Given the description of an element on the screen output the (x, y) to click on. 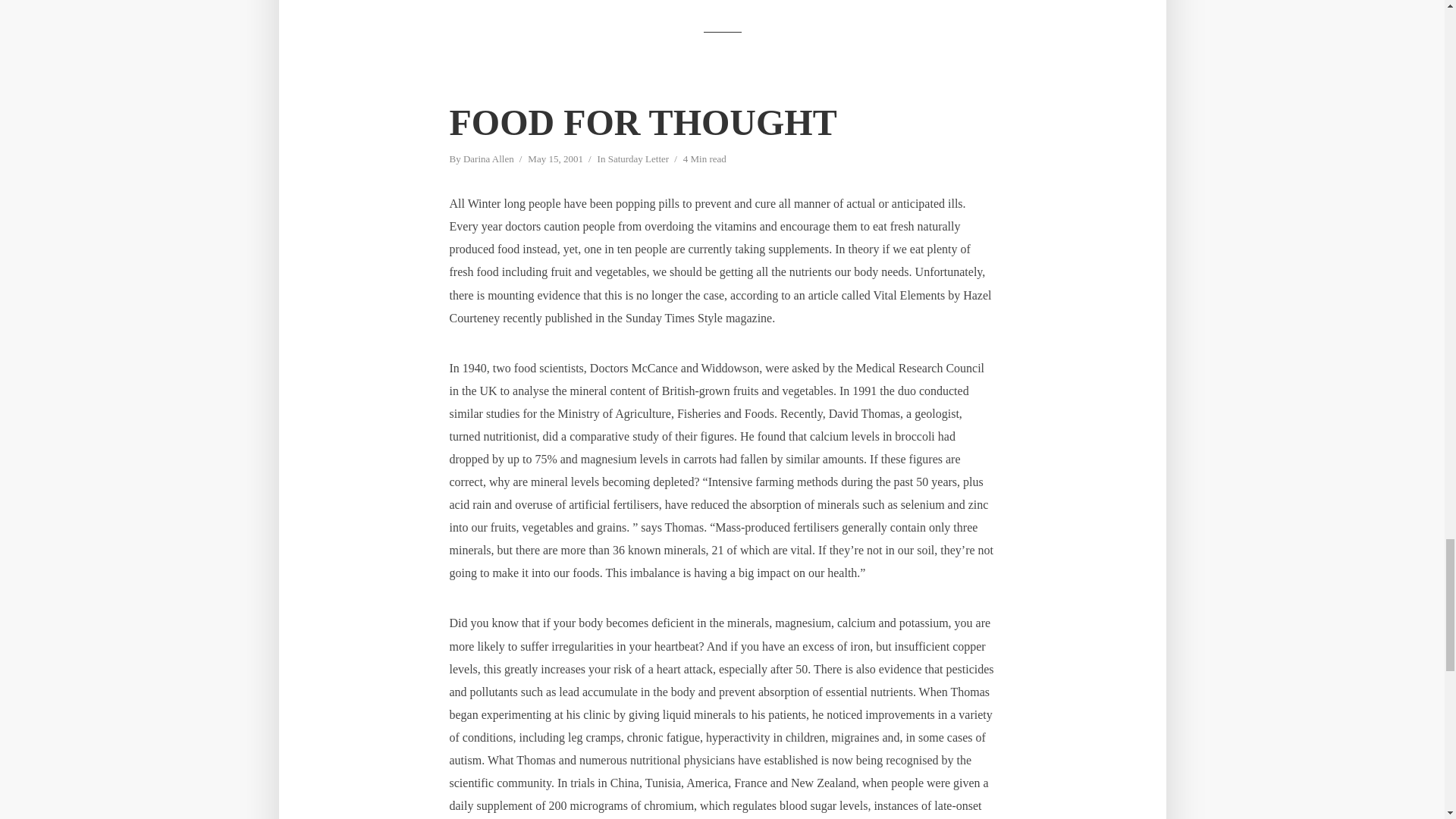
Saturday Letter (638, 160)
FOOD FOR THOUGHT (641, 122)
Darina Allen (488, 160)
